Given the description of an element on the screen output the (x, y) to click on. 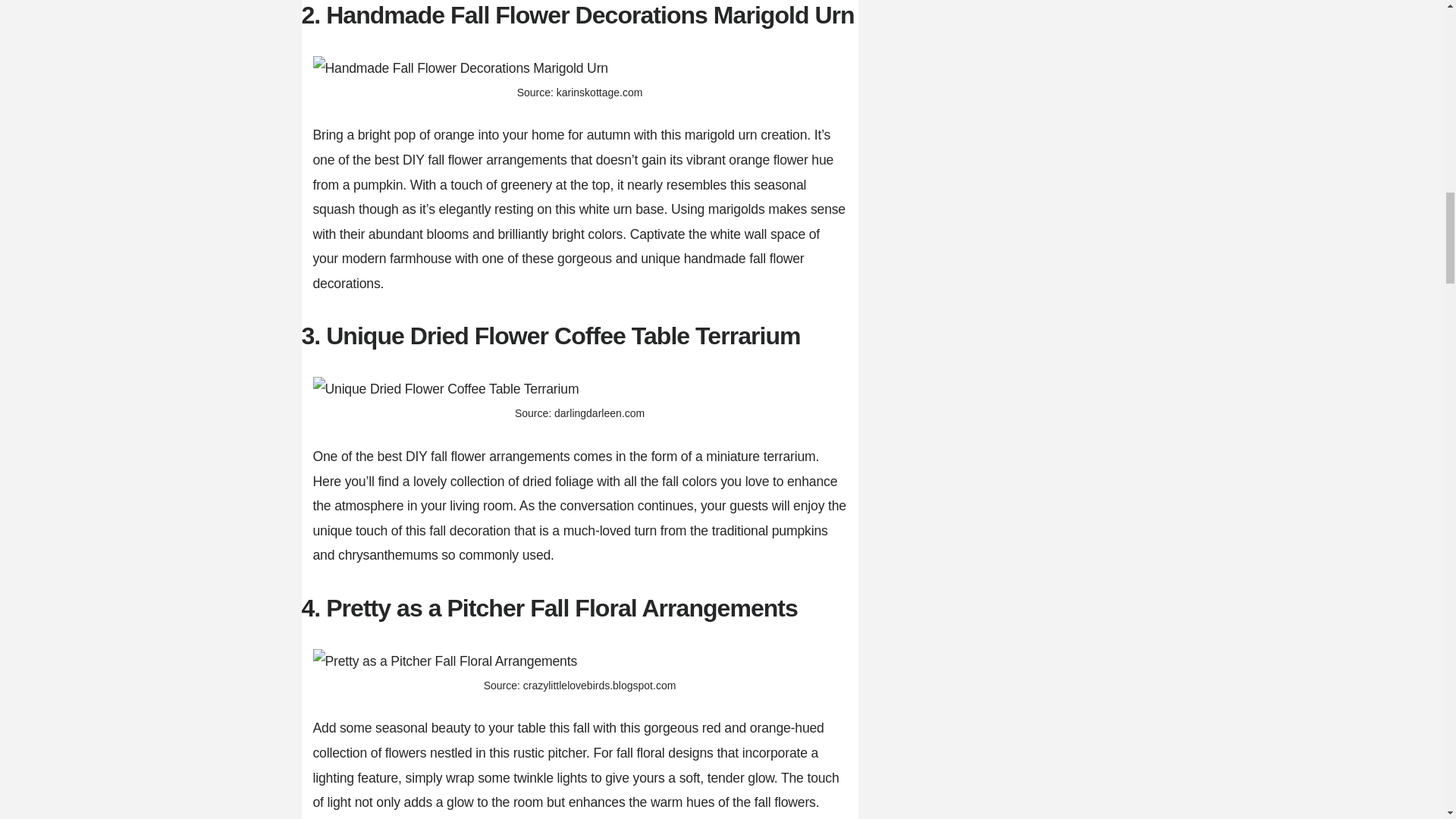
karinskottage.com (599, 92)
darlingdarleen.com (599, 413)
orange flower (768, 159)
crazylittlelovebirds.blogspot.com (599, 685)
